Given the description of an element on the screen output the (x, y) to click on. 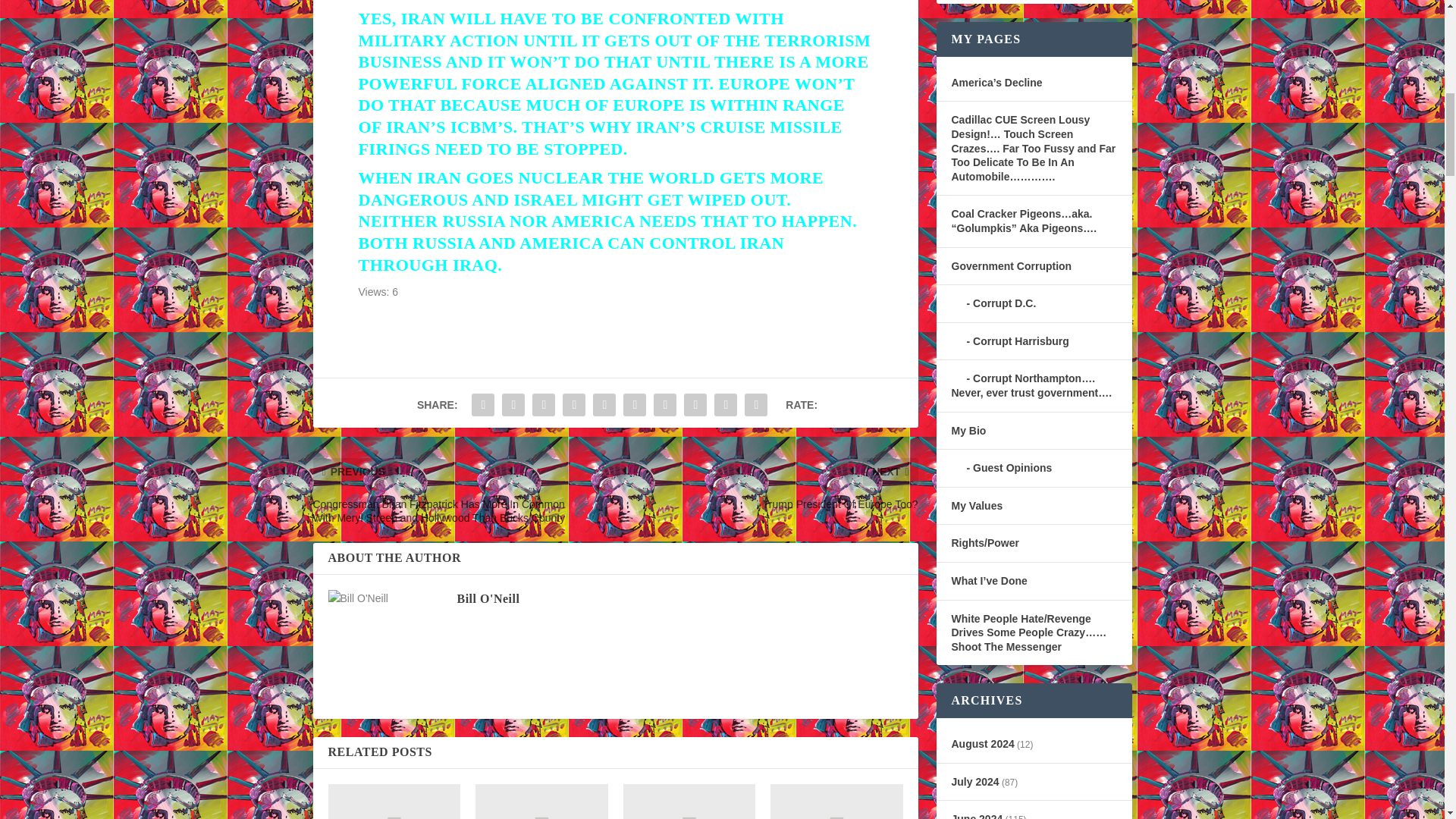
Government Corruption (1010, 265)
Bill O'Neill (488, 598)
Corrupt Harrisburg (1009, 340)
Corrupt D.C. (992, 303)
